Given the description of an element on the screen output the (x, y) to click on. 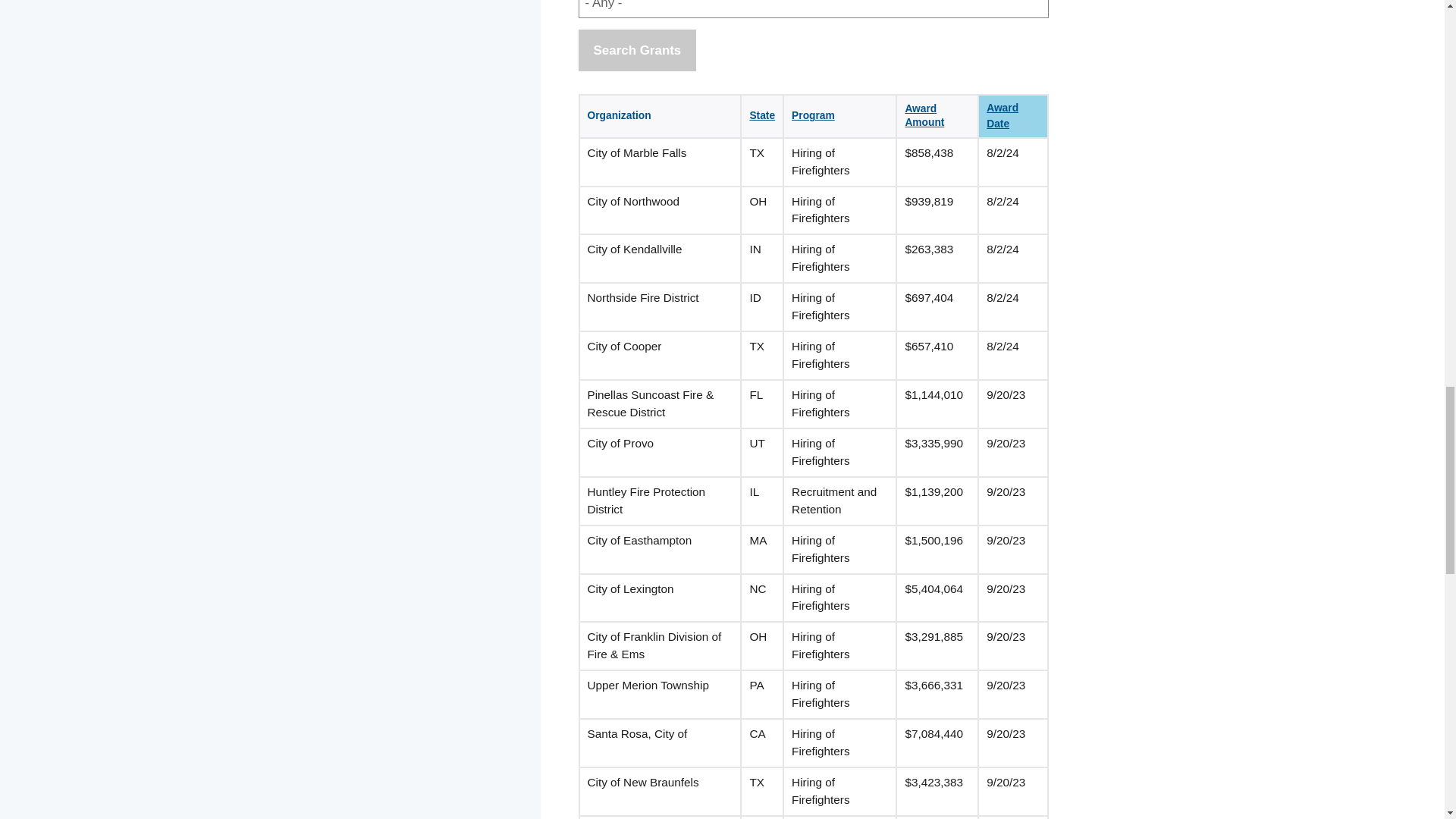
Search Grants (636, 50)
sort by Program (813, 115)
sort by Award Amount (923, 115)
sort by Award Date (1004, 115)
sort by State (761, 115)
sort by Organization (618, 115)
